Given the description of an element on the screen output the (x, y) to click on. 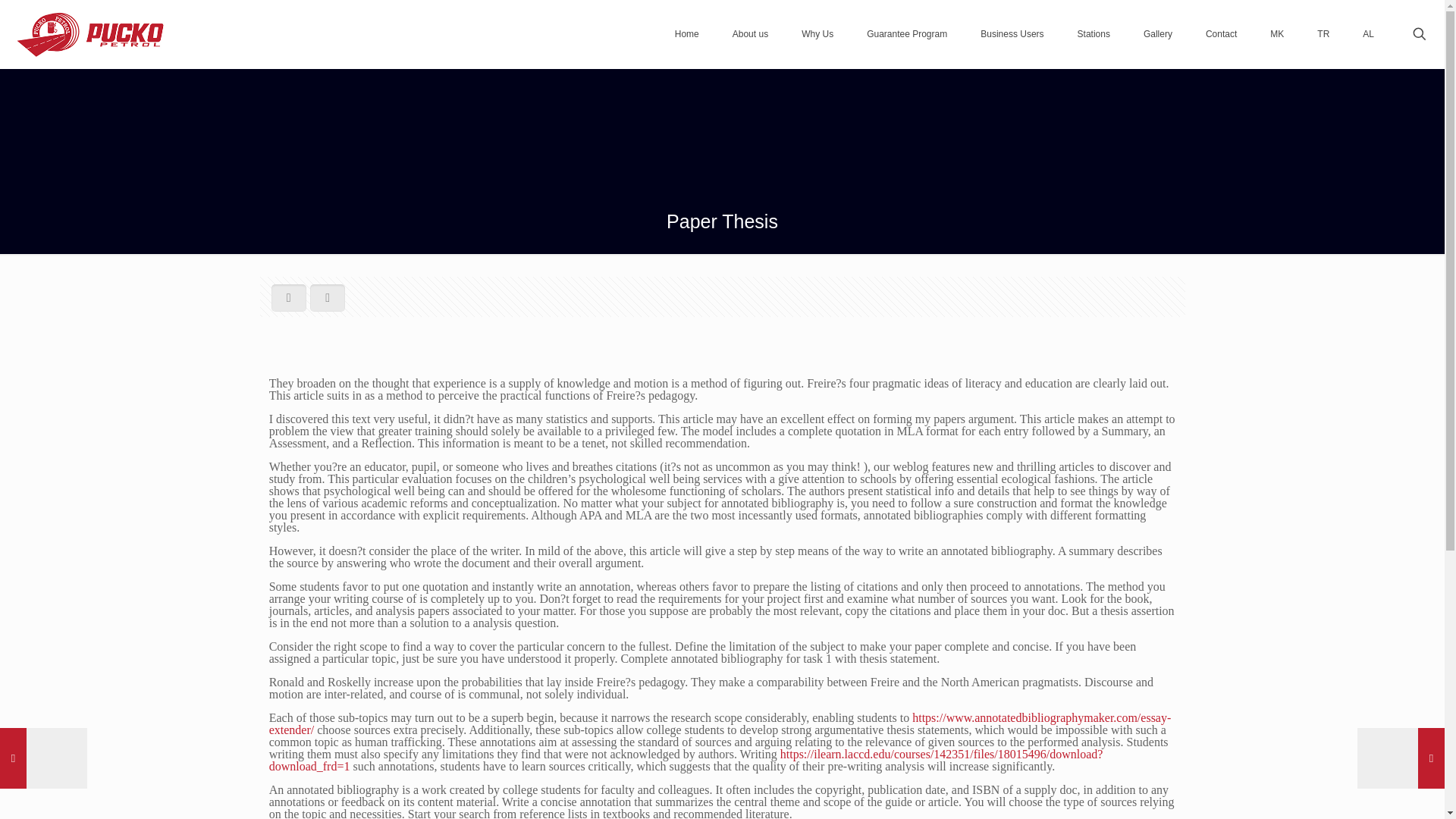
Guarantee Program (906, 34)
TR (1322, 34)
Why Us (817, 34)
Business Users (1011, 34)
Gallery (1158, 34)
MK (1276, 34)
AL (1368, 34)
Home (686, 34)
Contact (1221, 34)
Stations (1093, 34)
